Given the description of an element on the screen output the (x, y) to click on. 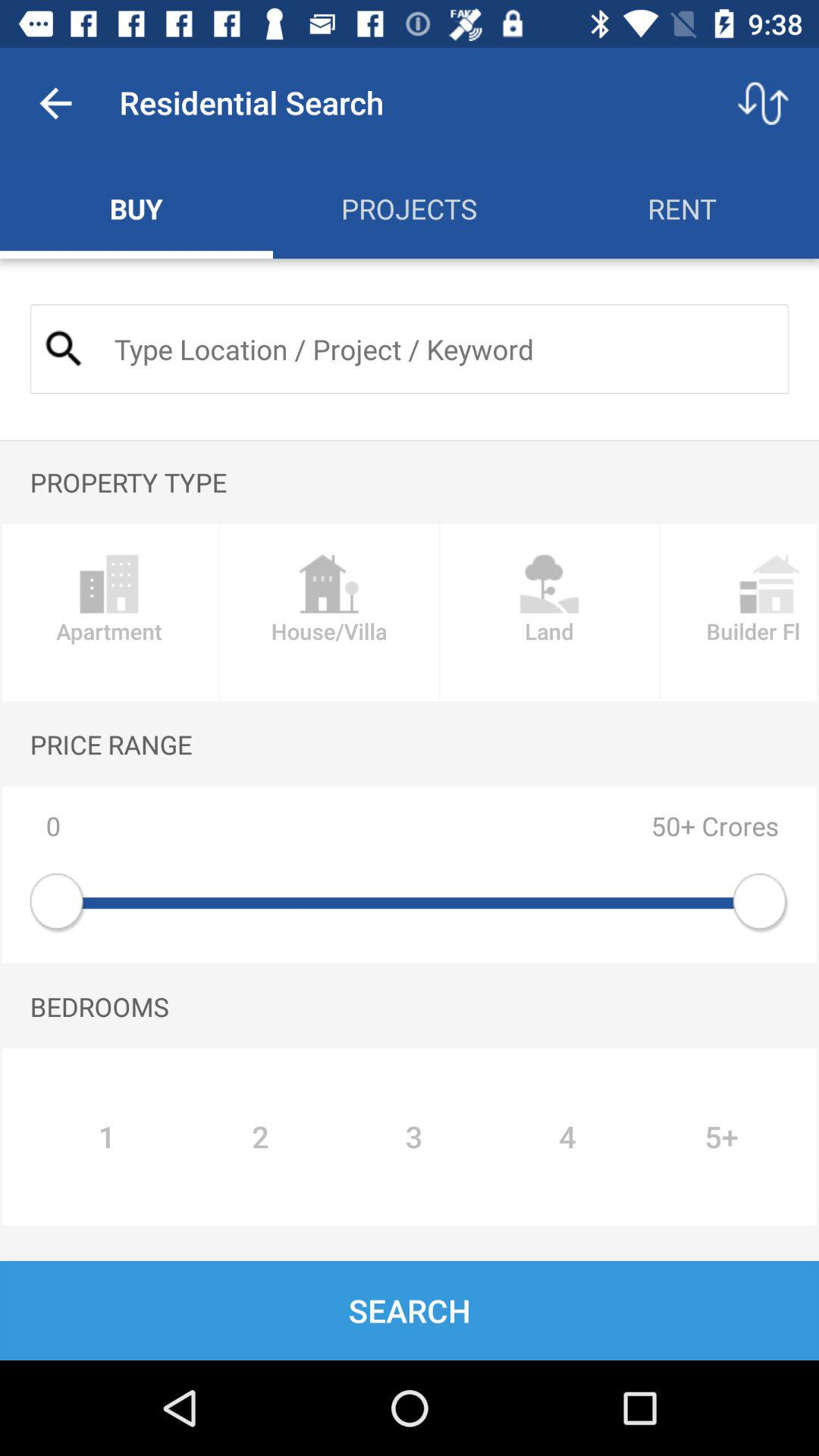
select 3 (413, 1137)
